Given the description of an element on the screen output the (x, y) to click on. 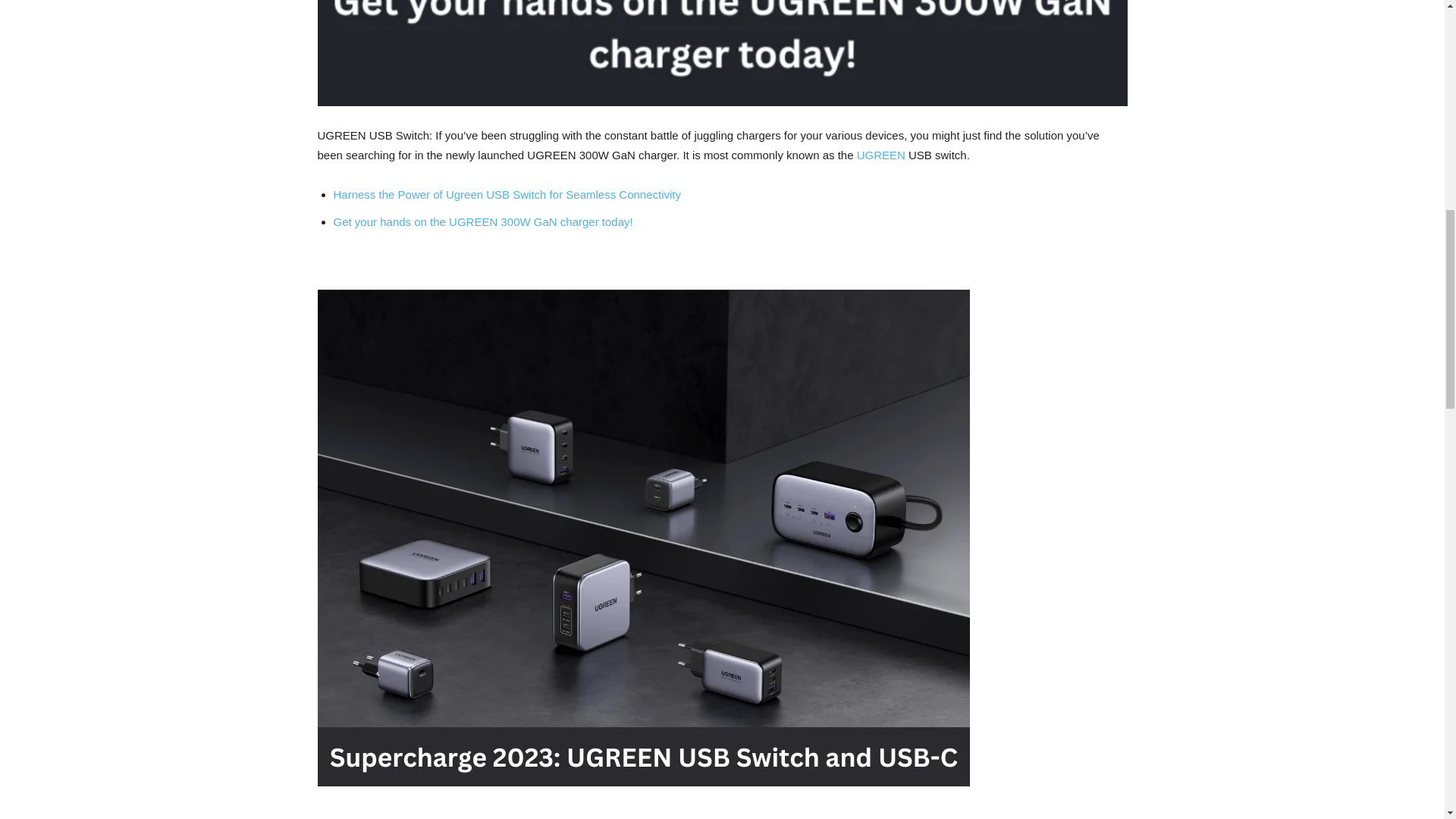
Supercharge 2023: safer UGREEN USB Switch and USB-C (721, 53)
